Given the description of an element on the screen output the (x, y) to click on. 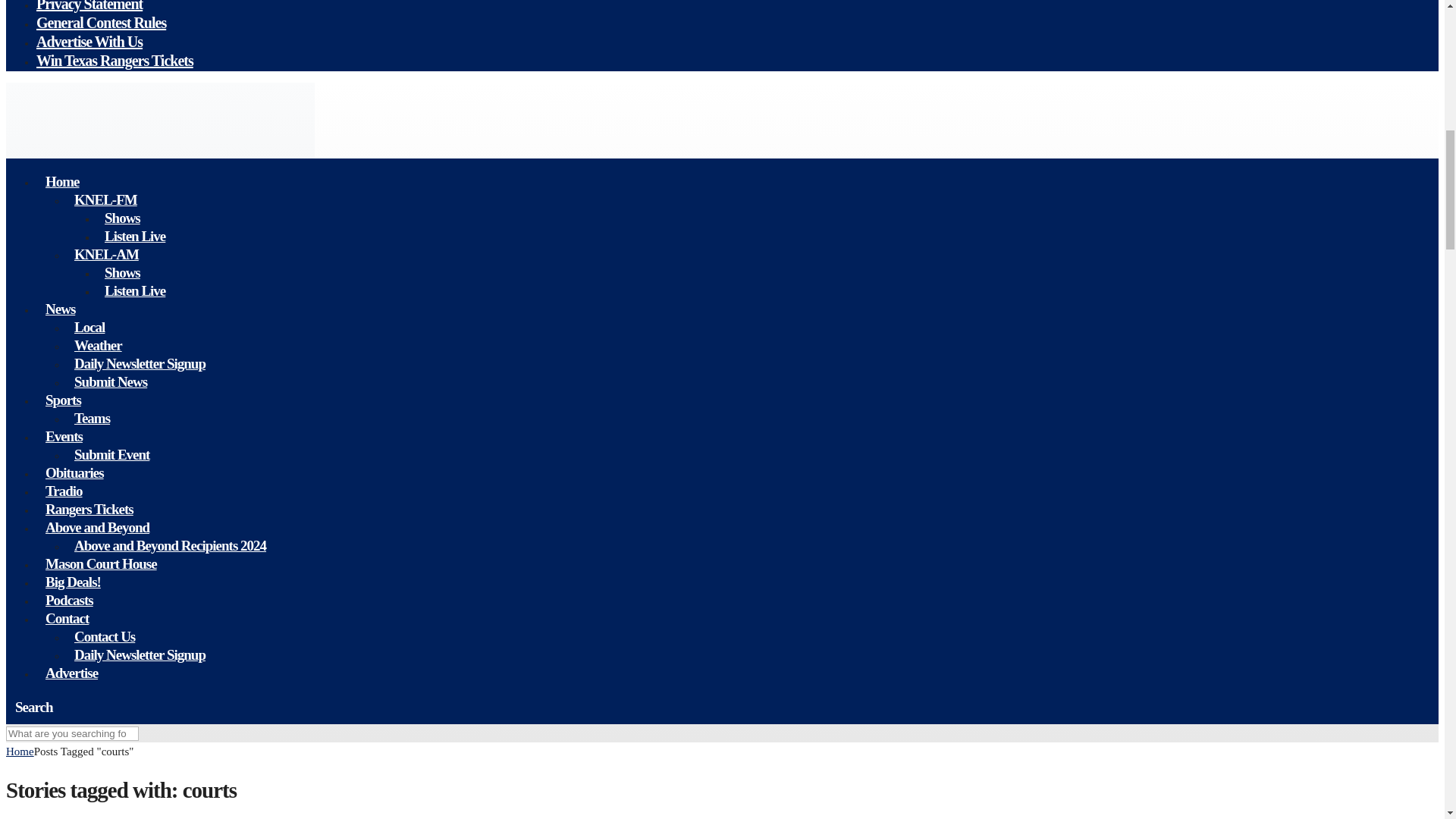
General Contest Rules (100, 22)
Privacy Statement (89, 7)
Search for: (71, 733)
